Given the description of an element on the screen output the (x, y) to click on. 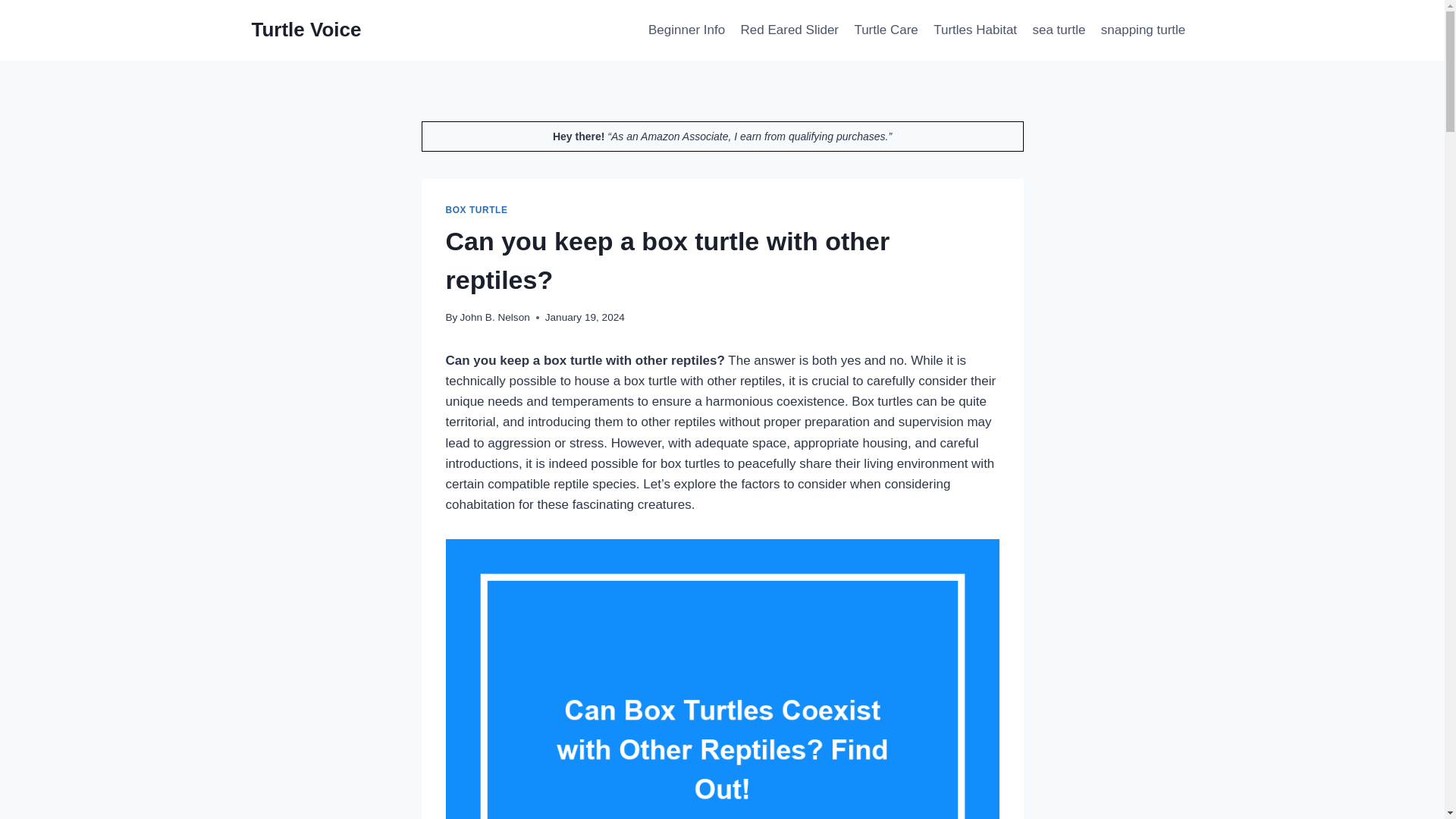
Turtle Voice (306, 29)
Beginner Info (686, 30)
John B. Nelson (494, 317)
Red Eared Slider (788, 30)
sea turtle (1059, 30)
BOX TURTLE (476, 209)
snapping turtle (1143, 30)
Turtles Habitat (975, 30)
Turtle Care (885, 30)
